Given the description of an element on the screen output the (x, y) to click on. 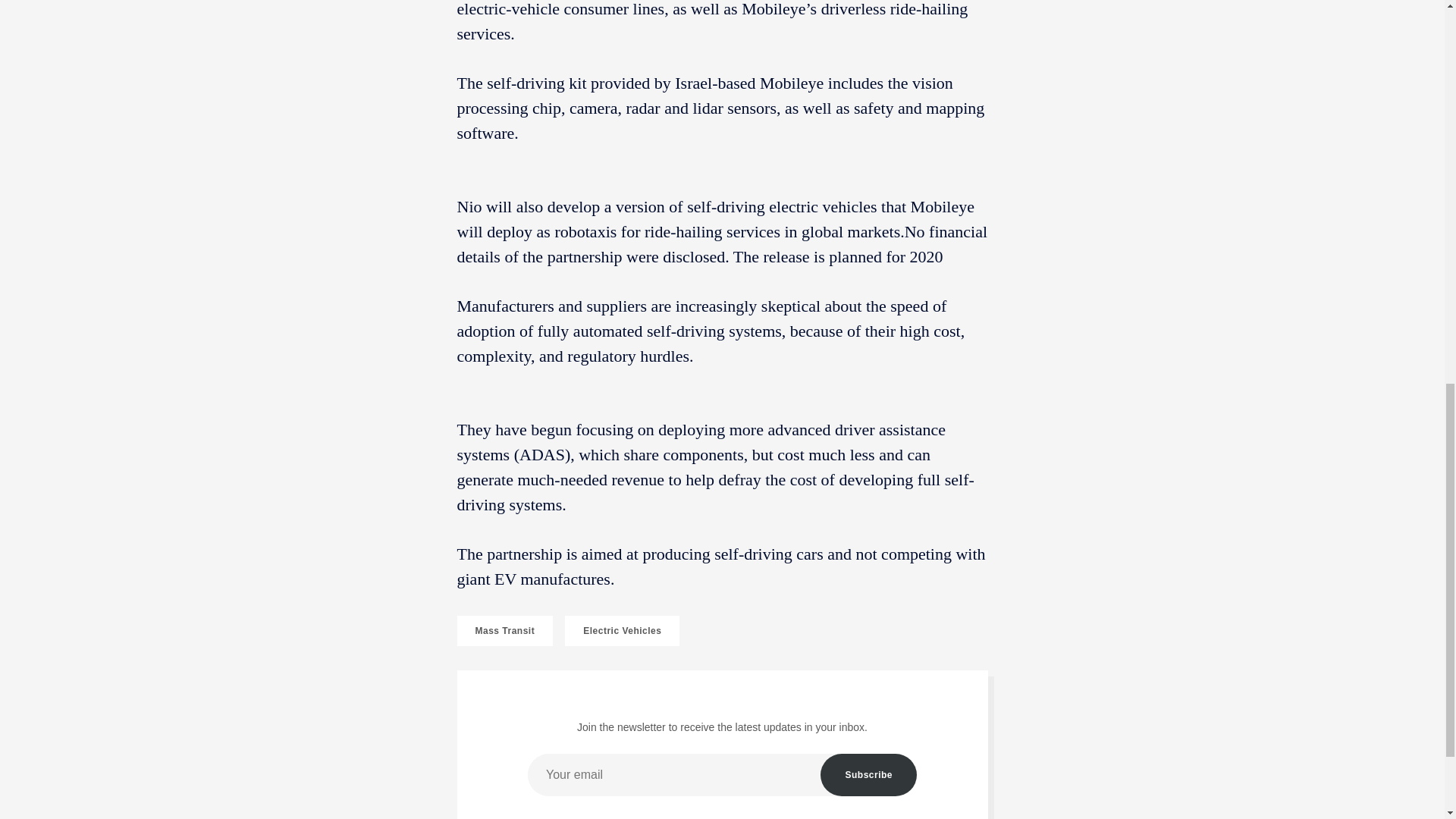
Subscribe (869, 774)
Electric Vehicles (621, 630)
Mass Transit (505, 630)
